Given the description of an element on the screen output the (x, y) to click on. 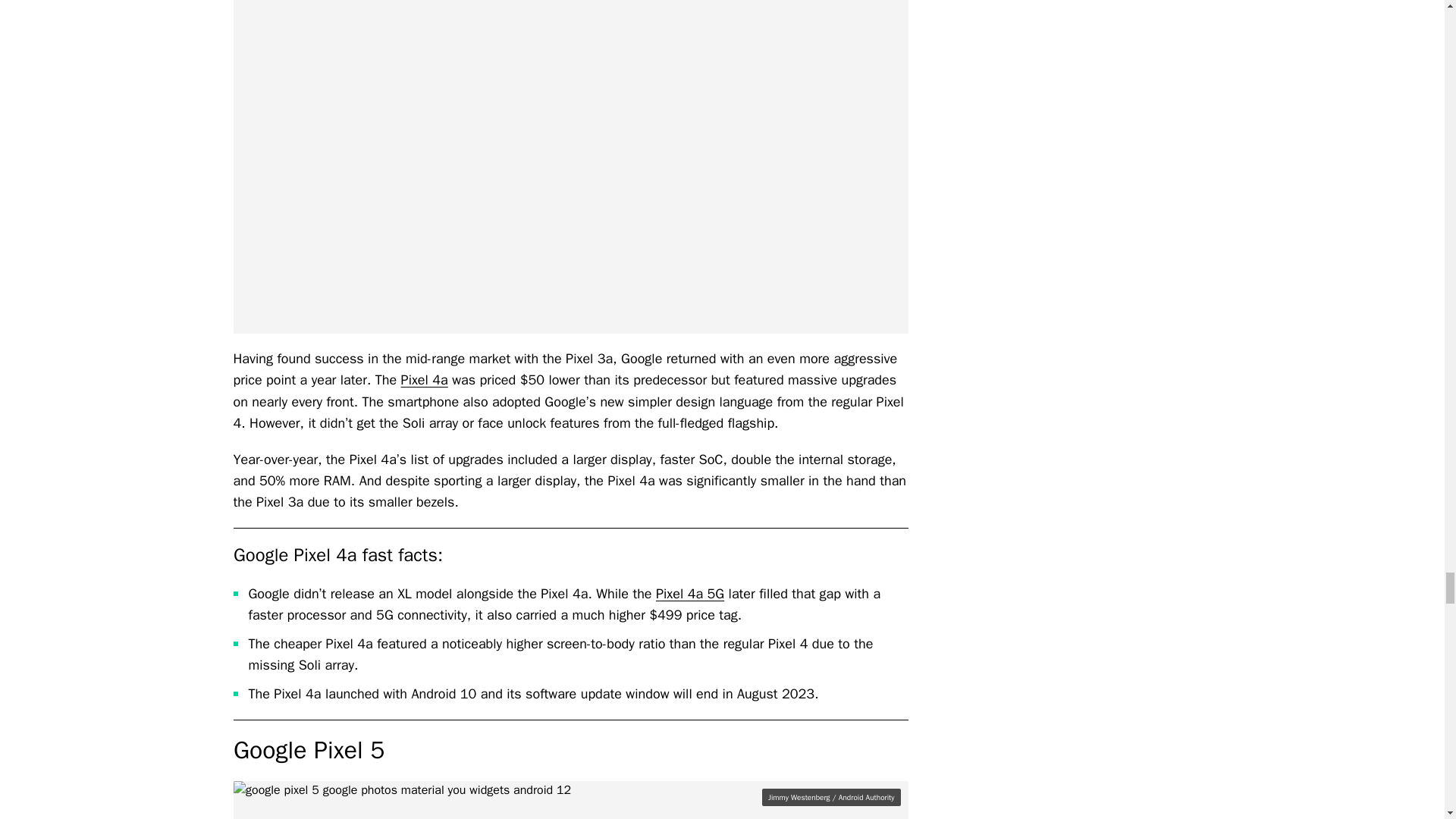
google pixel 5 google photos material you widgets android 12 (570, 800)
